Given the description of an element on the screen output the (x, y) to click on. 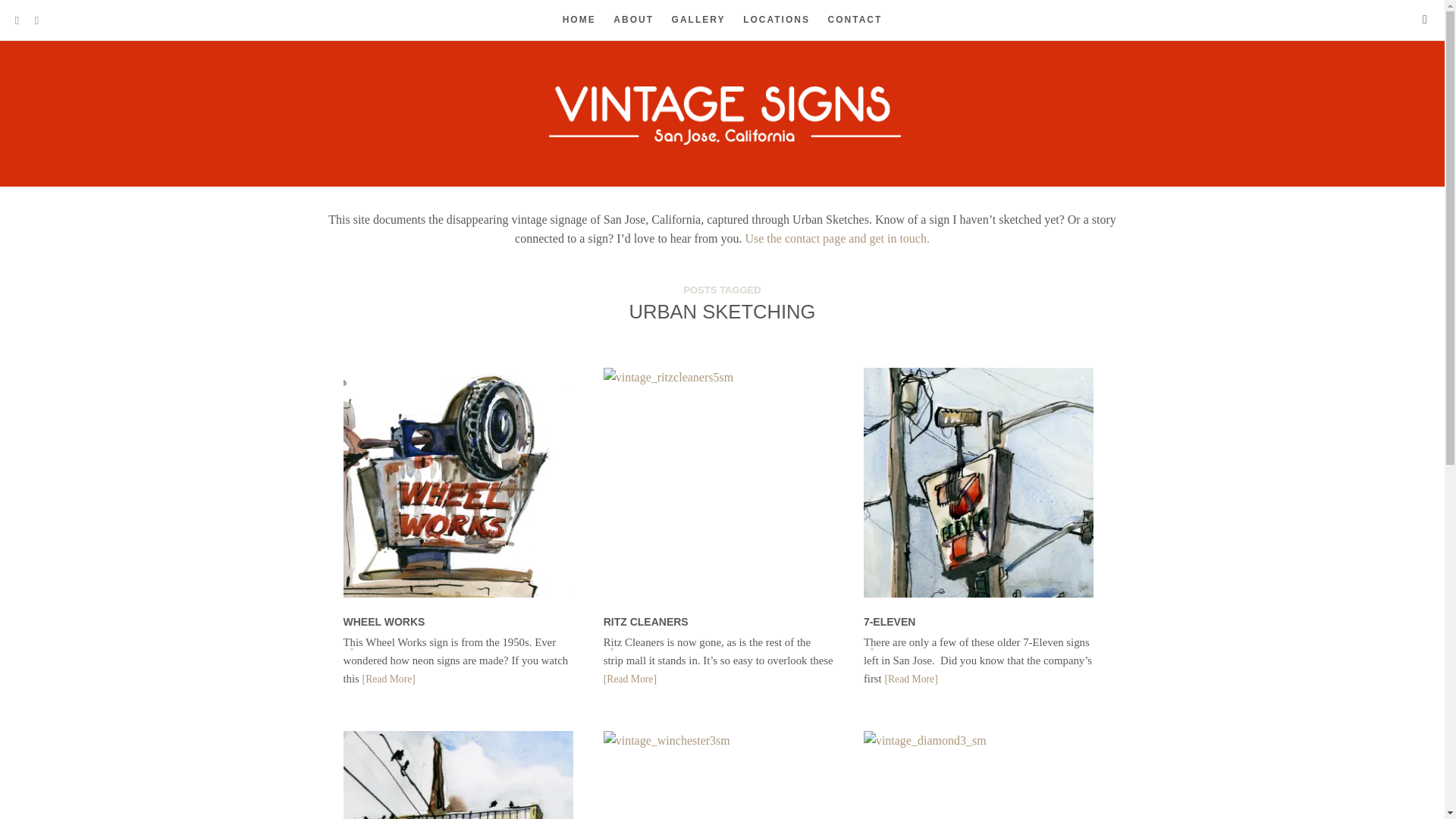
RITZ CLEANERS (646, 621)
WHEEL WORKS (383, 621)
7-ELEVEN (889, 621)
Use the contact page and get in touch. (834, 237)
CONTACT (855, 20)
ABOUT (632, 20)
GALLERY (698, 20)
LOCATIONS (775, 20)
